Given the description of an element on the screen output the (x, y) to click on. 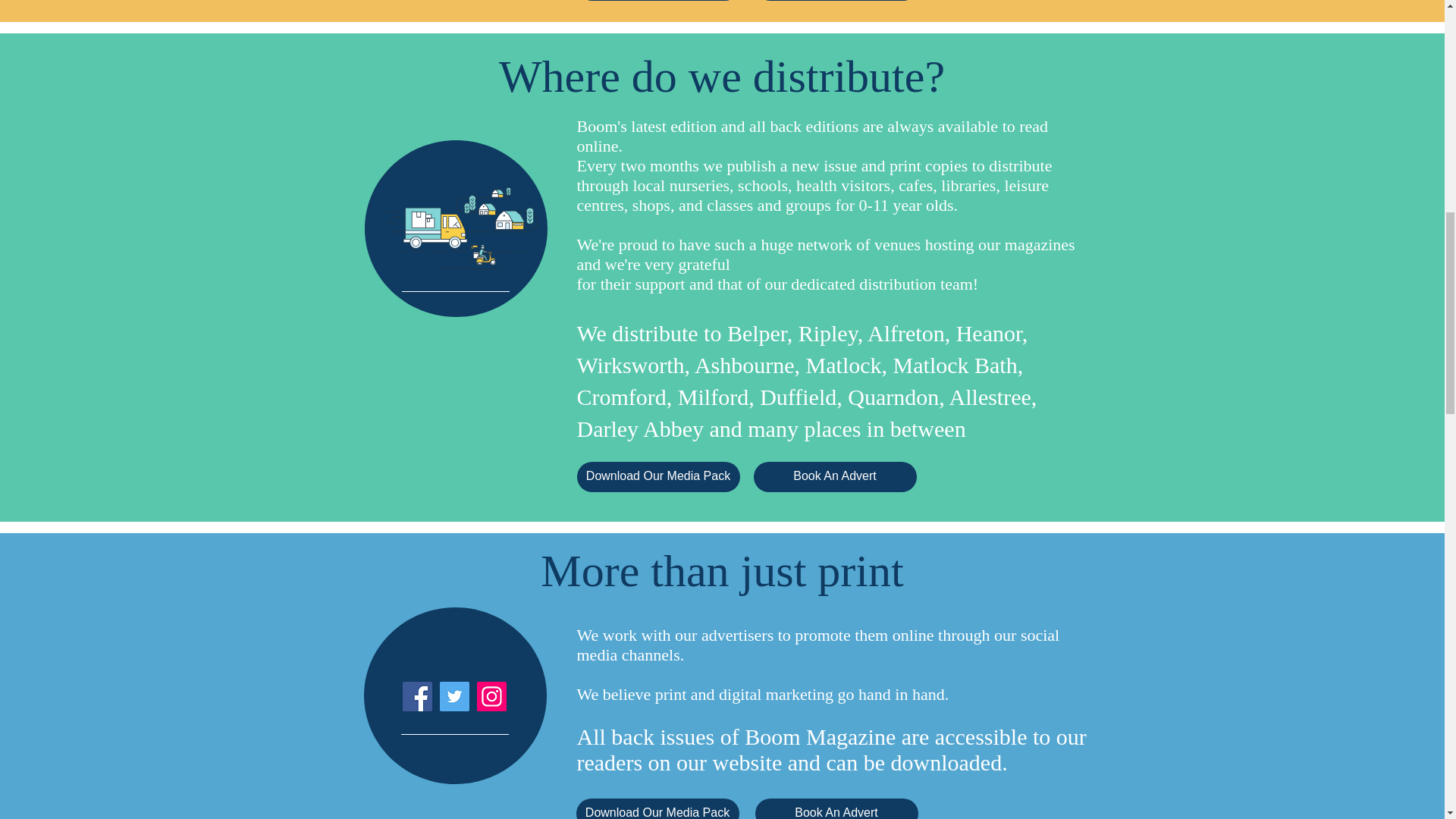
Download Our Media Pack (657, 476)
Download Our Media Pack (657, 808)
Book An Advert (836, 808)
Book An Advert (835, 476)
